Given the description of an element on the screen output the (x, y) to click on. 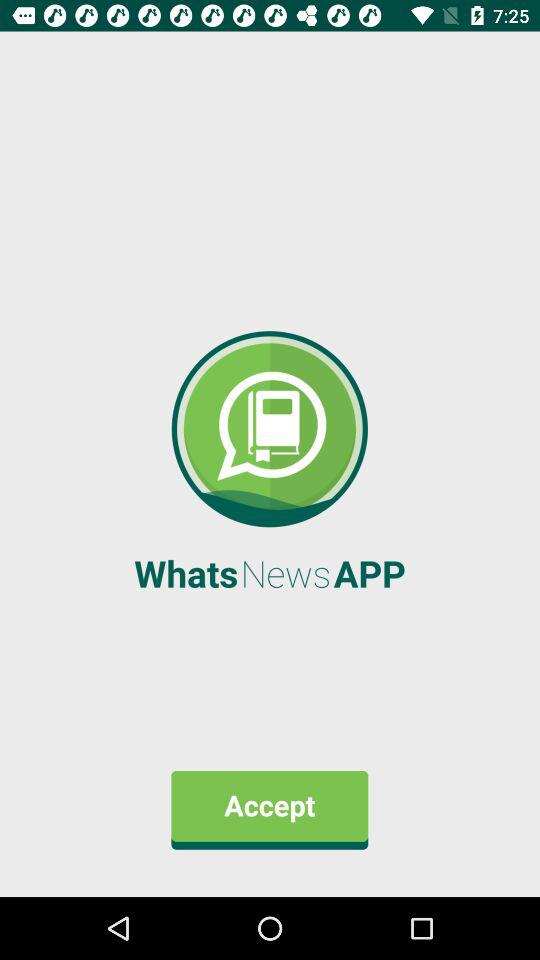
choose the accept icon (269, 810)
